Given the description of an element on the screen output the (x, y) to click on. 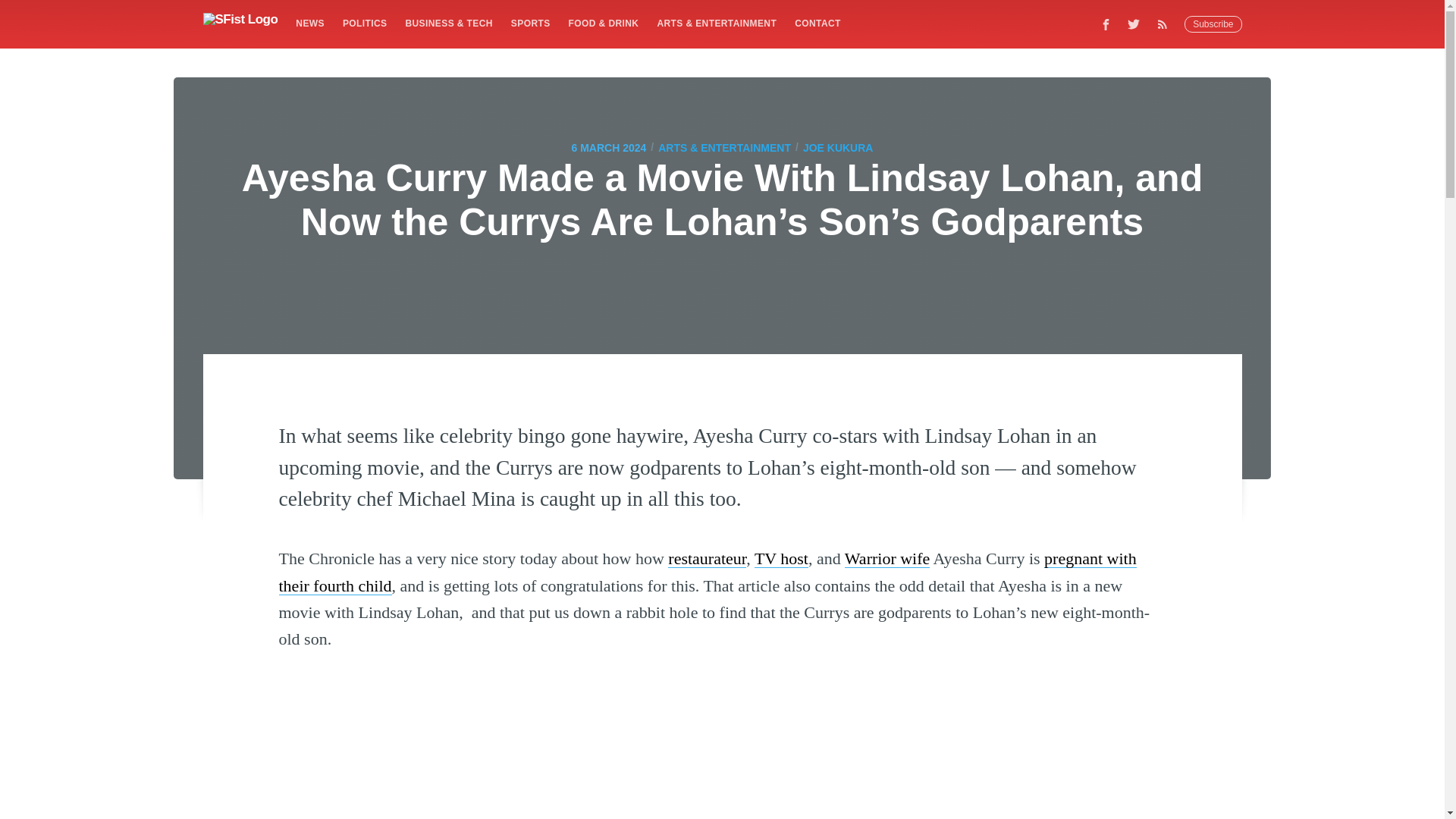
POLITICS (364, 23)
restaurateur (706, 558)
Subscribe (1213, 23)
Twitter (1133, 23)
SPORTS (530, 23)
RSS (1166, 23)
Facebook (1106, 23)
JOE KUKURA (838, 147)
Warrior wife (887, 558)
TV host (781, 558)
